Given the description of an element on the screen output the (x, y) to click on. 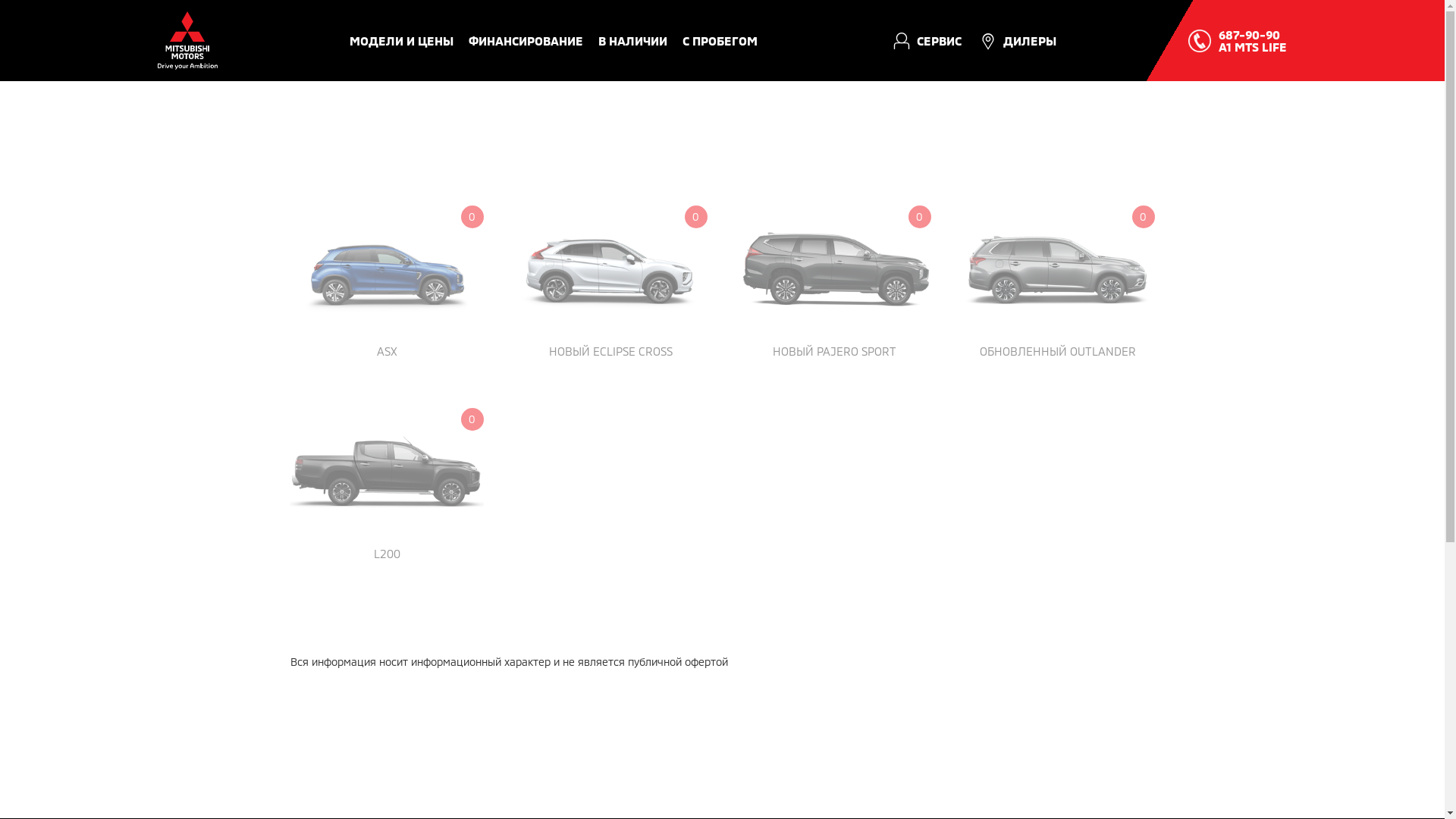
0 Element type: text (386, 269)
0 Element type: text (1057, 269)
0 Element type: text (386, 471)
0 Element type: text (610, 269)
687-90-90
A1 MTS LIFE Element type: text (1252, 40)
0 Element type: text (833, 269)
